Given the description of an element on the screen output the (x, y) to click on. 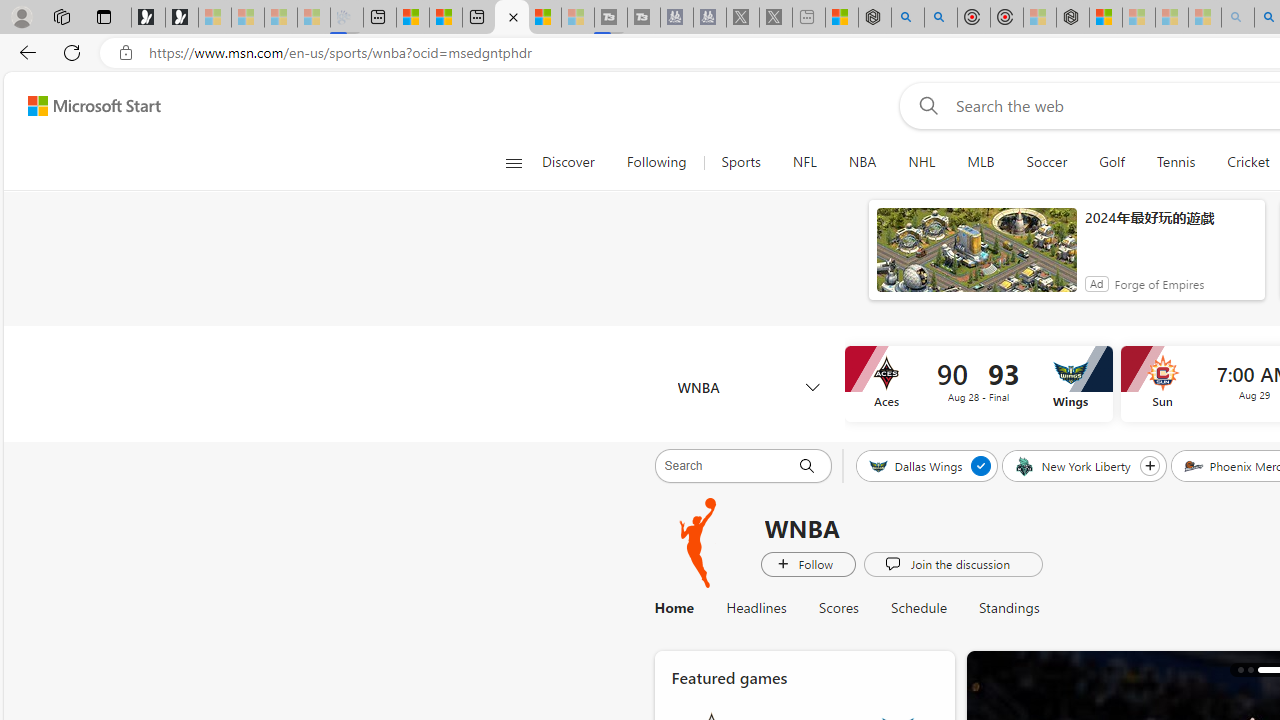
NHL (922, 162)
MLB (981, 162)
Golf (1112, 162)
Headlines (756, 607)
Newsletter Sign Up (182, 17)
Aces 90 vs Wings 93Final Date Aug 28 (978, 383)
Sports (740, 162)
Follow WNBA 2024 (808, 563)
Tennis (1175, 162)
Standings (1000, 607)
